Given the description of an element on the screen output the (x, y) to click on. 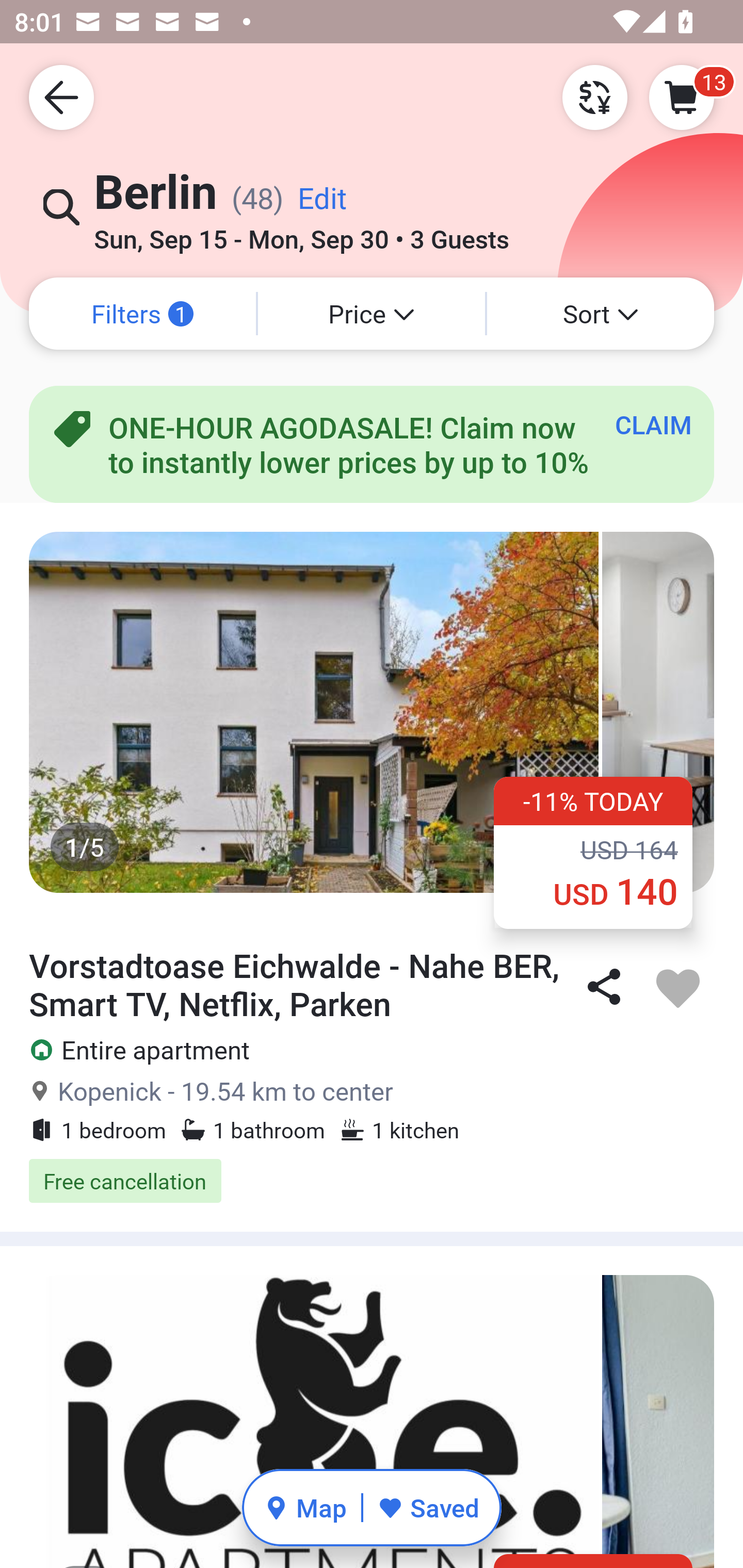
Filters 1 (141, 313)
Price (371, 313)
Sort (600, 313)
CLAIM (653, 424)
1/5 (371, 711)
-11% TODAY ‪USD 164 ‪USD 140 (593, 852)
Free cancellation (371, 1181)
Map (305, 1507)
Saved (428, 1507)
